Given the description of an element on the screen output the (x, y) to click on. 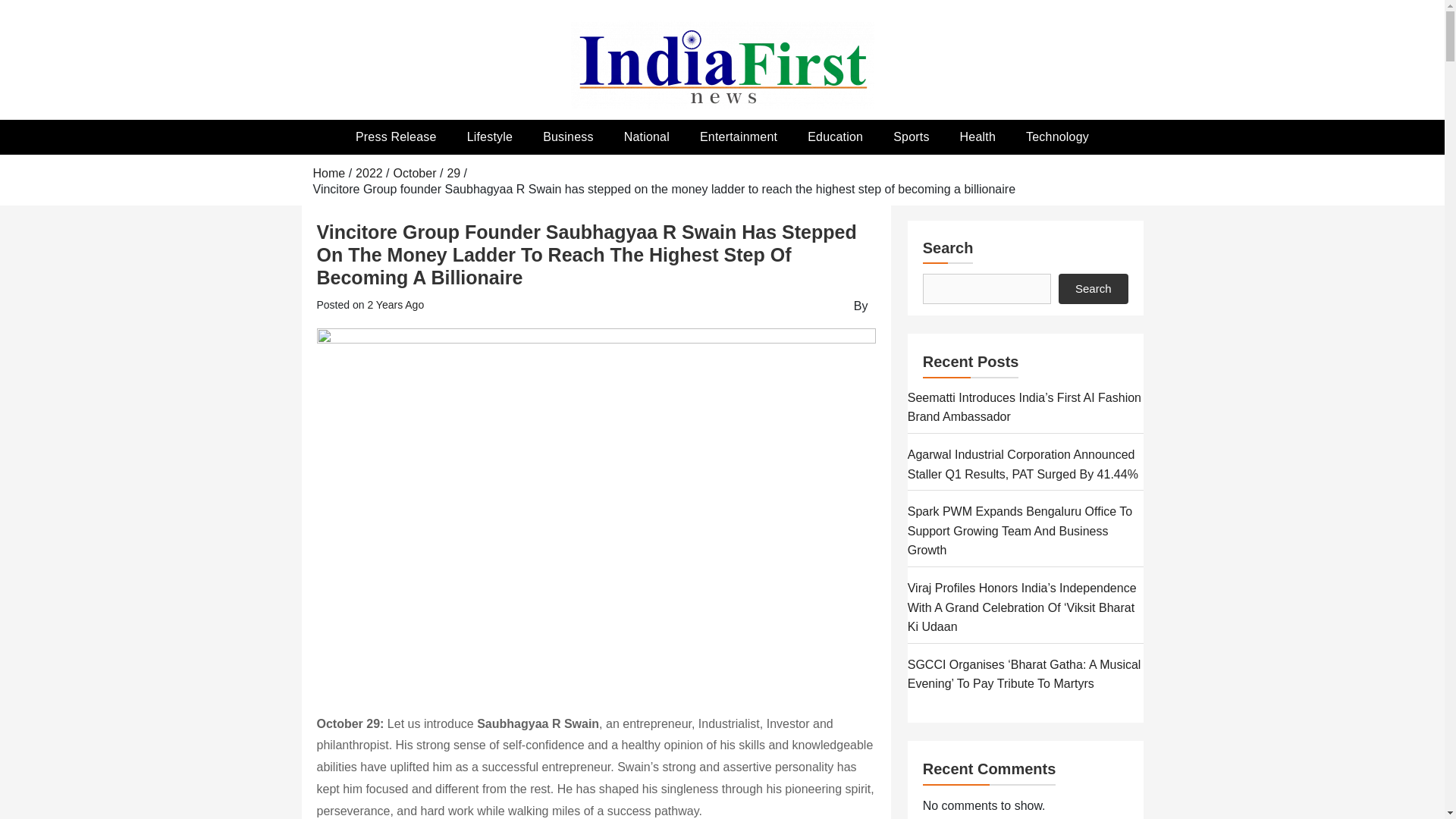
Home (329, 173)
Education (834, 136)
National (646, 136)
29 (453, 173)
Press Release (395, 136)
Health (977, 136)
Business (567, 136)
October (414, 173)
Lifestyle (489, 136)
Sports (910, 136)
